Given the description of an element on the screen output the (x, y) to click on. 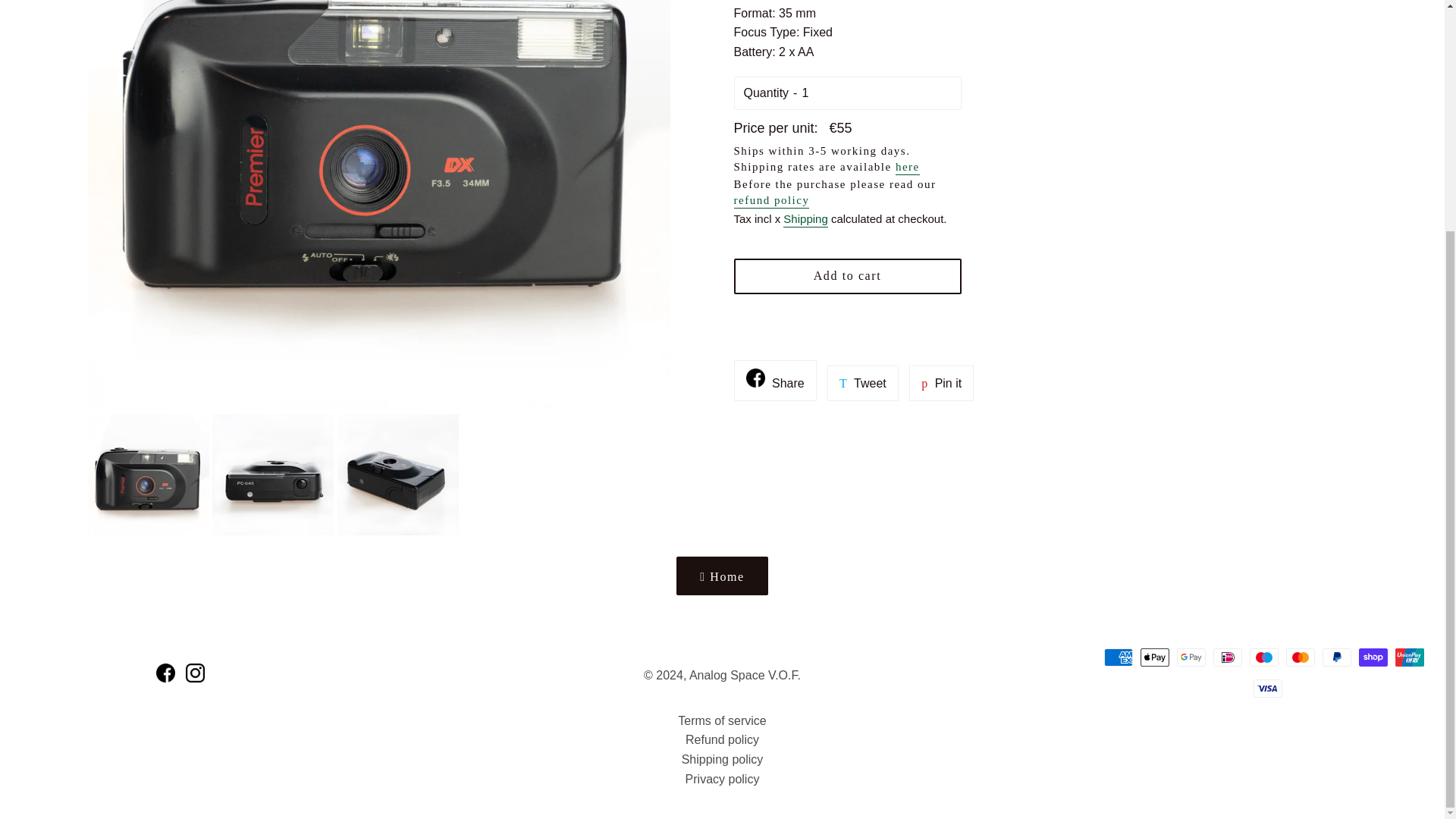
here (907, 167)
Refund policy (721, 740)
Shop Pay (1372, 657)
Union Pay (774, 381)
Visa (1408, 657)
Maestro (1267, 688)
Google Pay (1263, 657)
Terms of service (1190, 657)
